Given the description of an element on the screen output the (x, y) to click on. 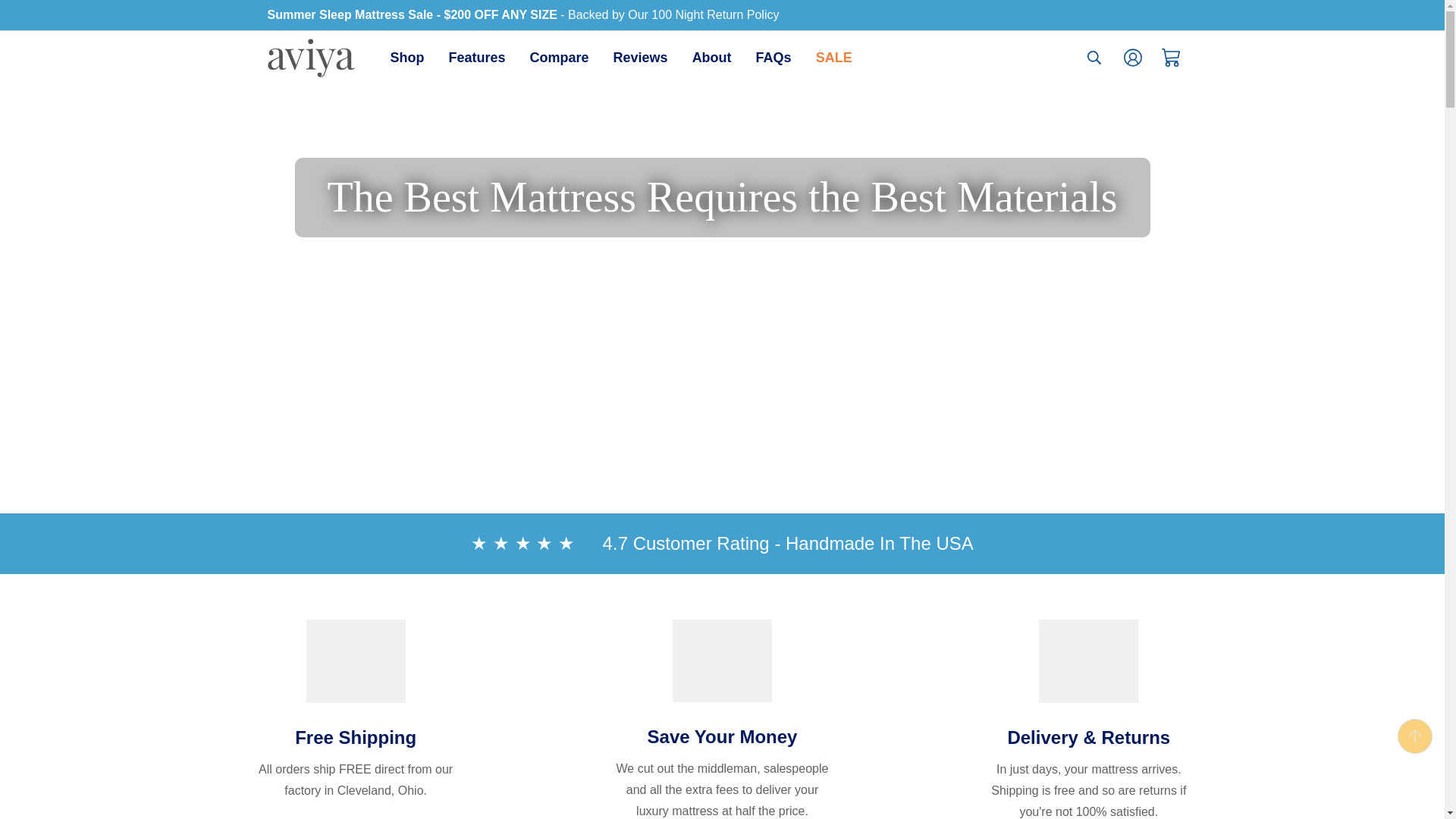
Shop (620, 57)
SALE (406, 57)
Features (833, 57)
Aviya Mattress (477, 57)
Compare (309, 58)
Reviews (559, 57)
FAQs (640, 57)
About (773, 57)
